Given the description of an element on the screen output the (x, y) to click on. 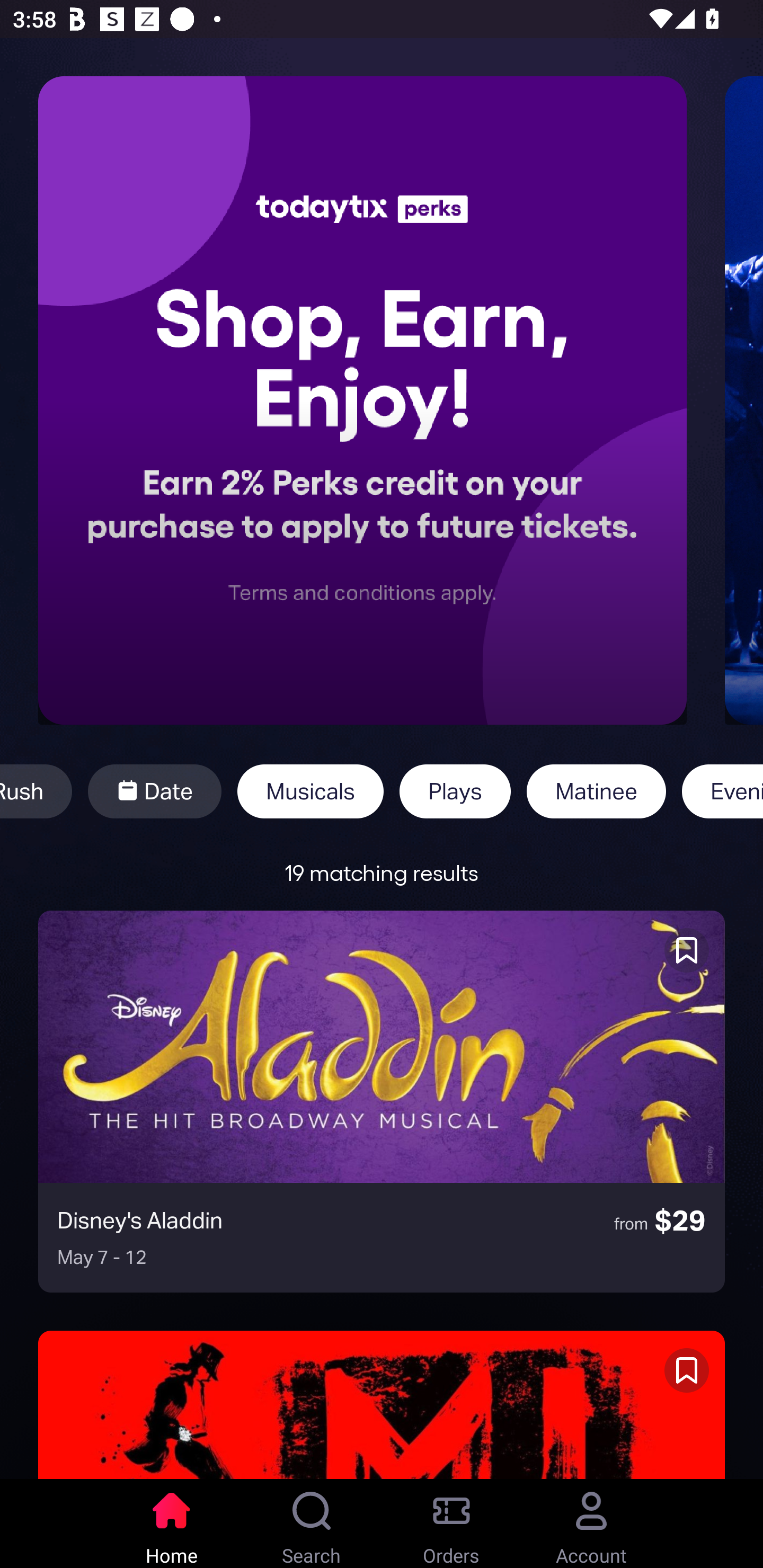
Date (154, 791)
Musicals (310, 791)
Plays (454, 791)
Matinee (596, 791)
Disney's Aladdin from $29 May 7 - 12 (381, 1101)
Search (311, 1523)
Orders (451, 1523)
Account (591, 1523)
